Given the description of an element on the screen output the (x, y) to click on. 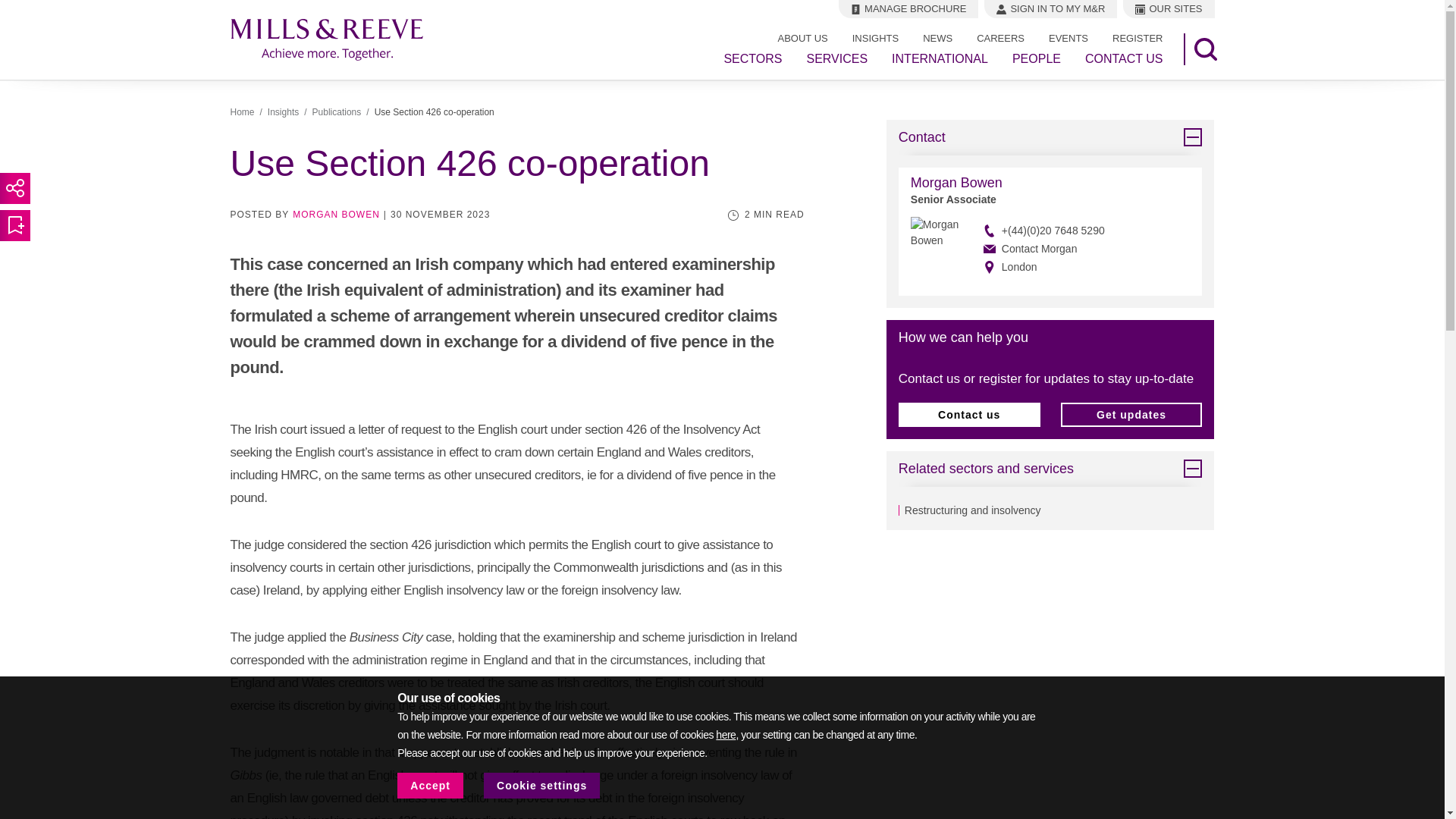
CONTACT US (1123, 58)
REGISTER (1137, 37)
Publications (337, 112)
Manage Brochure (908, 9)
ABOUT US (802, 37)
MANAGE BROCHURE (908, 9)
SERVICES (836, 58)
Our sites (1168, 9)
INSIGHTS (875, 37)
CAREERS (999, 37)
Home (242, 112)
Call Morgan (1044, 230)
SECTORS (752, 58)
PEOPLE (1036, 58)
Contact Morgan (1044, 248)
